Given the description of an element on the screen output the (x, y) to click on. 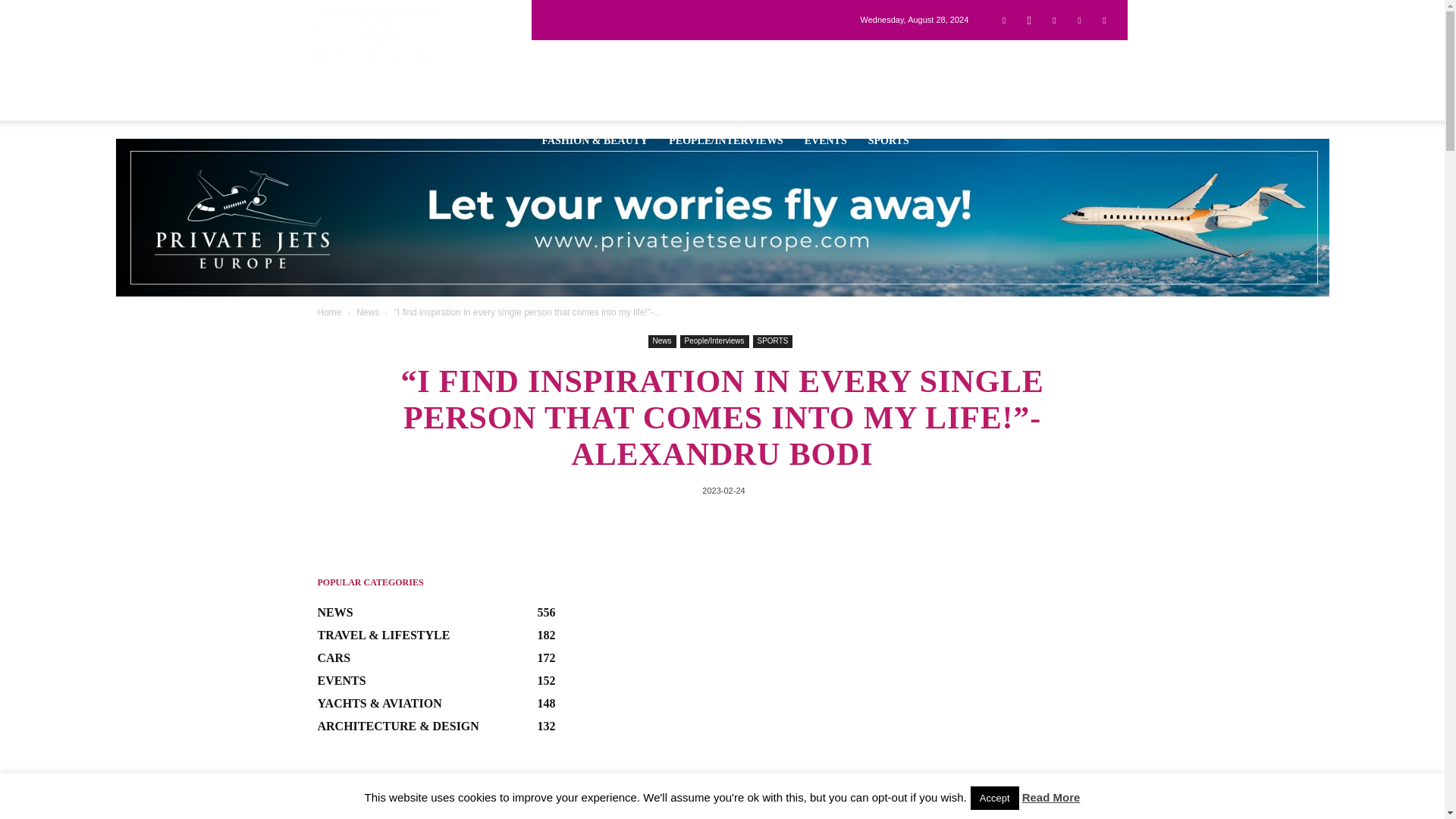
NEWS (557, 60)
Instagram (1029, 19)
SPORTS (888, 140)
CARS (745, 60)
Twitter (1078, 19)
Linkedin (1053, 19)
EVENTS (825, 140)
Facebook (1003, 19)
The business and lifestyle Magazine (376, 39)
Youtube (1104, 19)
